Given the description of an element on the screen output the (x, y) to click on. 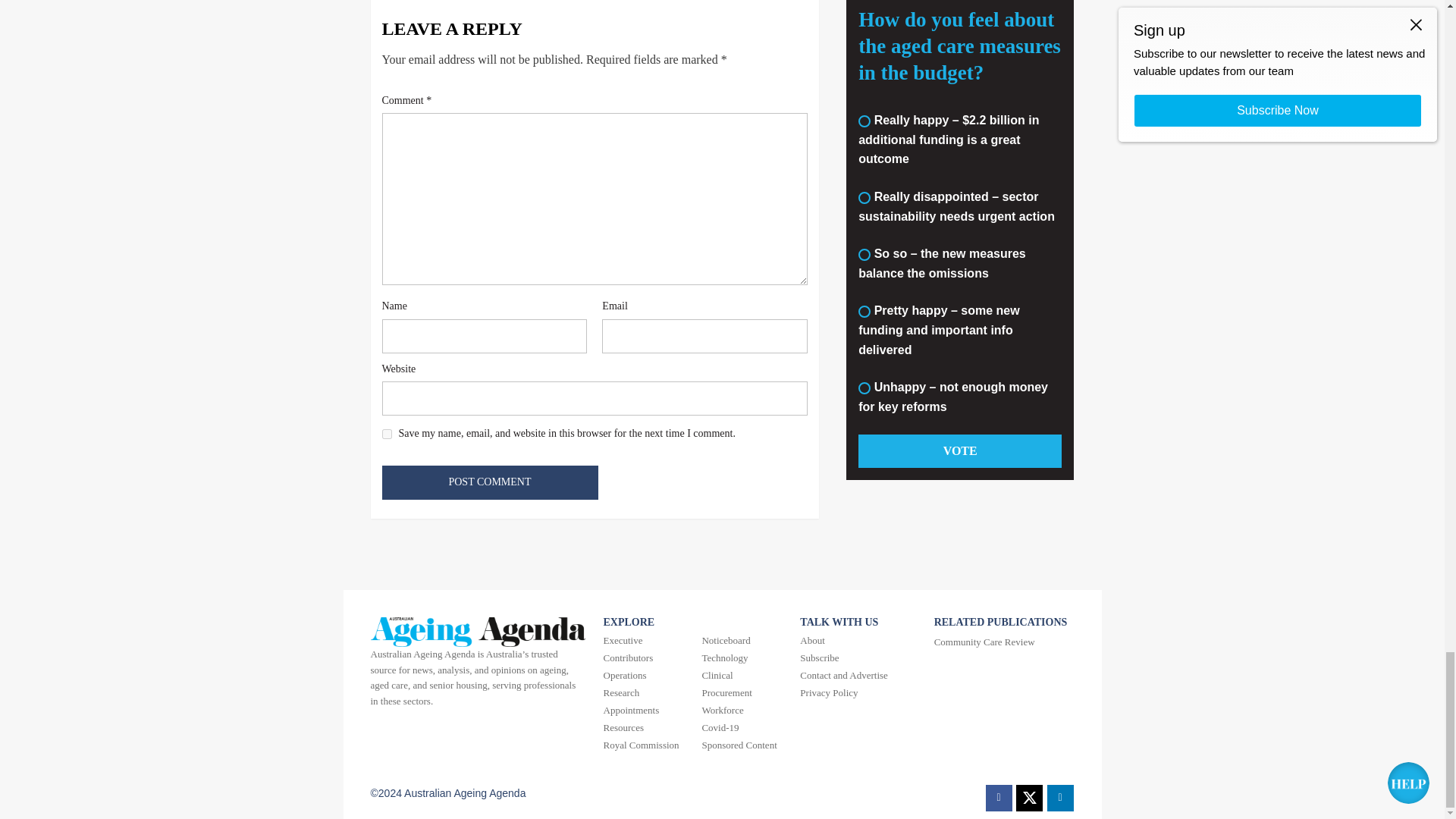
Post Comment (489, 482)
yes (386, 433)
